Given the description of an element on the screen output the (x, y) to click on. 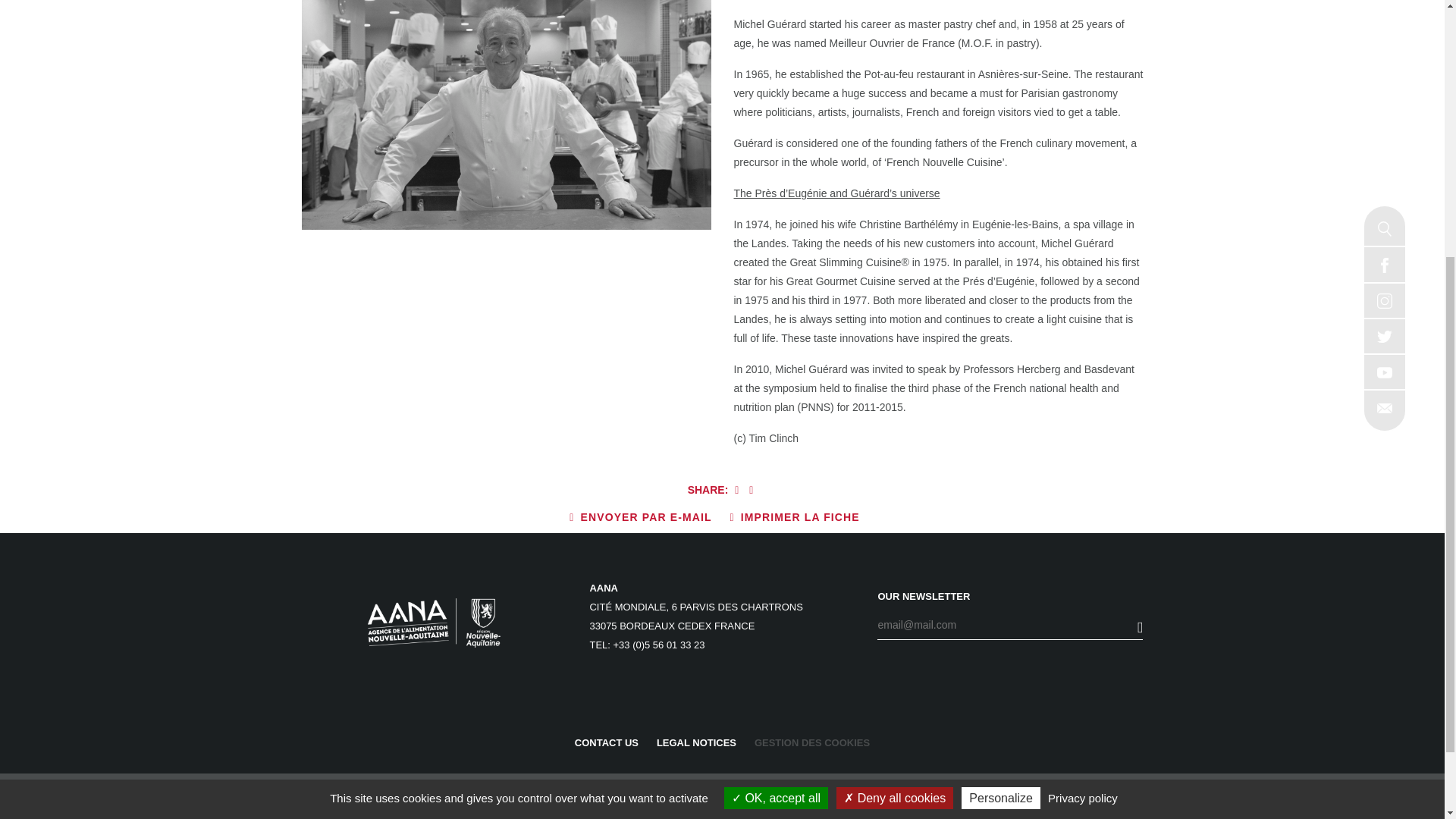
CONTACT US (607, 742)
IMPRIMER LA FICHE (795, 517)
WWW.MANGERBOUGER.FR (980, 795)
GESTION DES COOKIES (811, 742)
LEGAL NOTICES (696, 742)
ENVOYER PAR E-MAIL (640, 517)
